Given the description of an element on the screen output the (x, y) to click on. 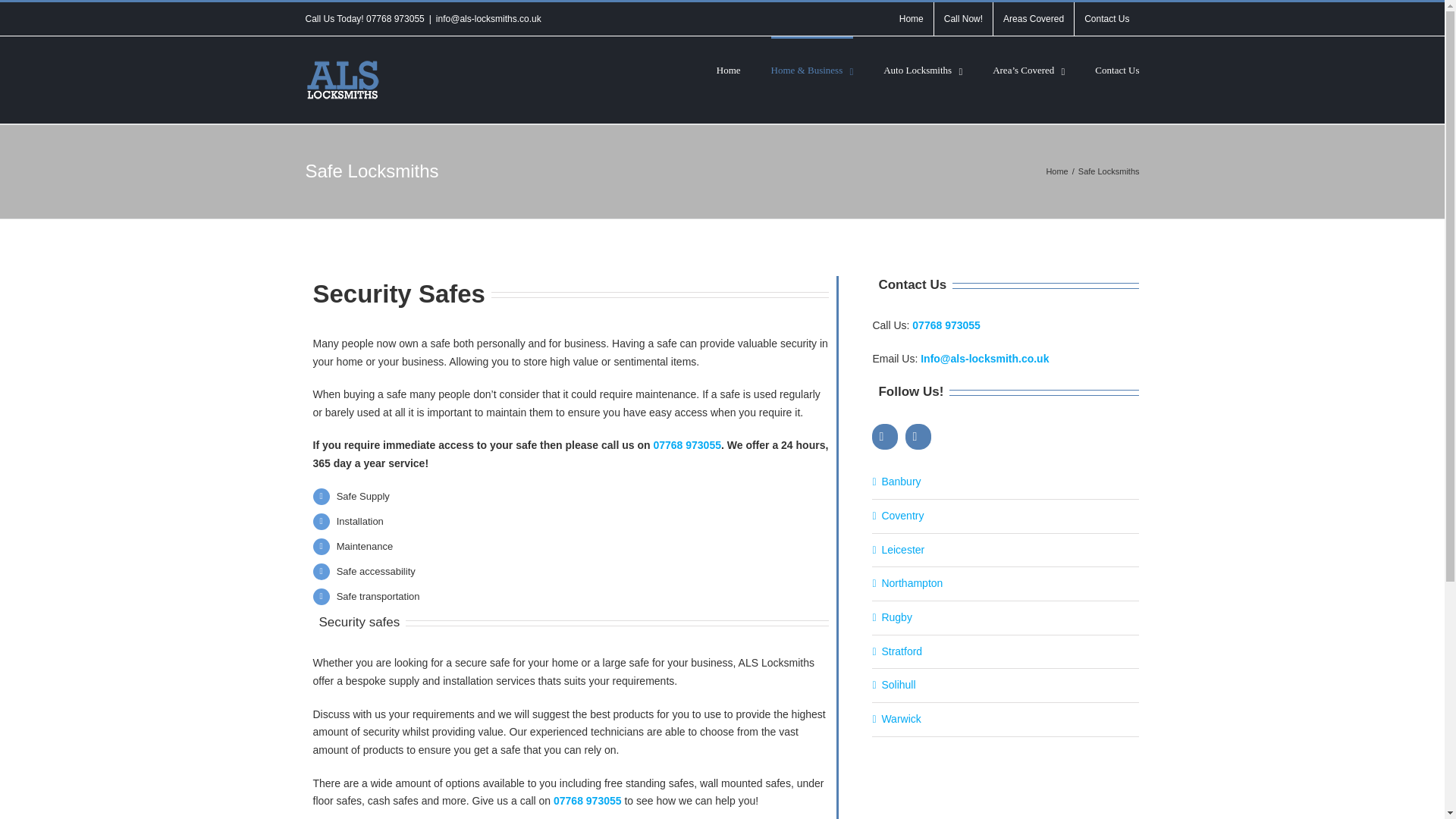
Facebook (885, 436)
Mail (918, 436)
Contact Us (1106, 19)
Call Now! (963, 19)
Auto Locksmiths (922, 68)
Home (911, 19)
Areas Covered (1033, 19)
